Given the description of an element on the screen output the (x, y) to click on. 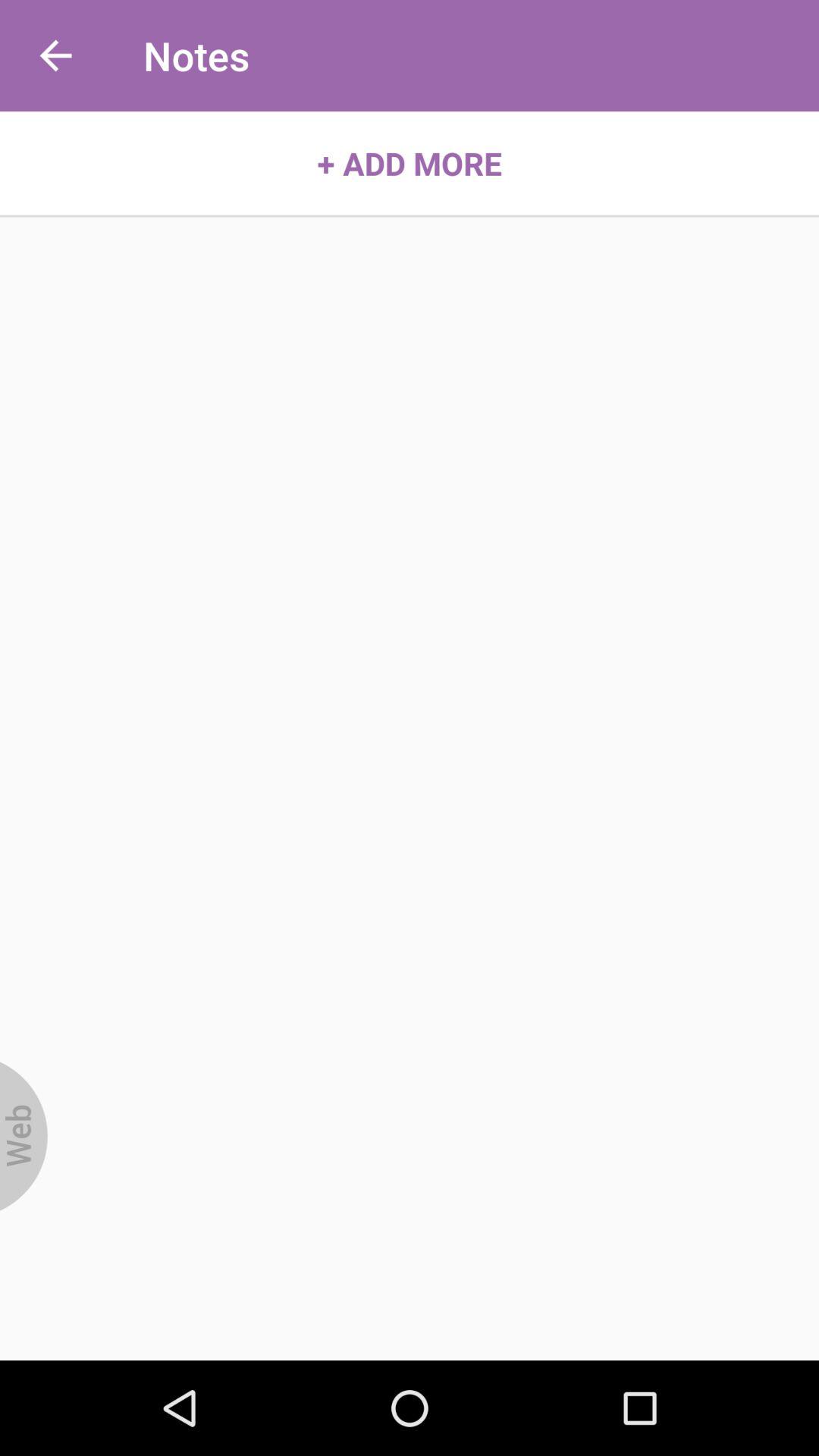
open item at the bottom left corner (23, 1135)
